Given the description of an element on the screen output the (x, y) to click on. 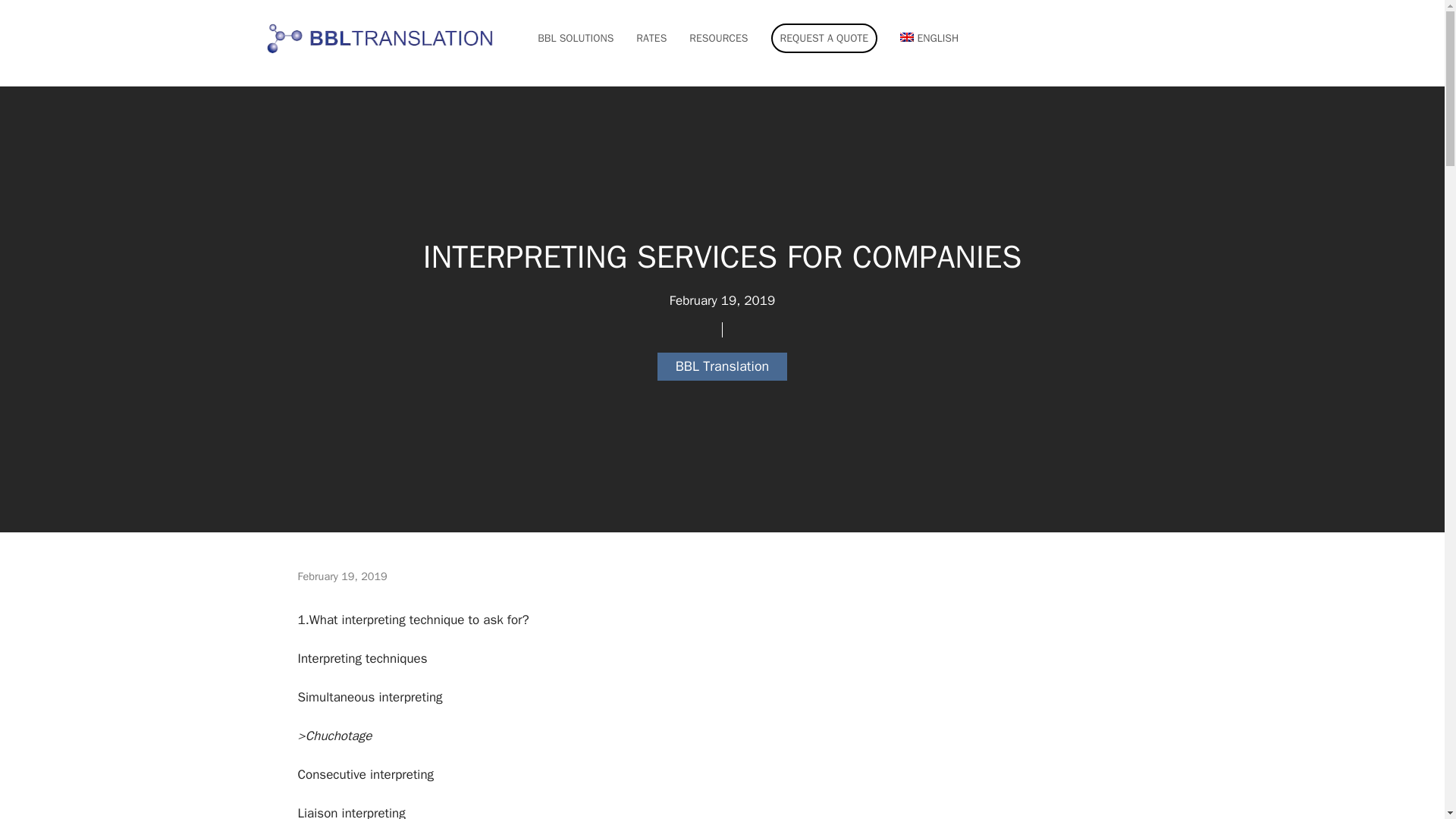
RESOURCES (718, 37)
English (928, 37)
RATES (651, 37)
BBL SOLUTIONS (574, 37)
ENGLISH (928, 37)
REQUEST A QUOTE (824, 37)
English (920, 43)
